Given the description of an element on the screen output the (x, y) to click on. 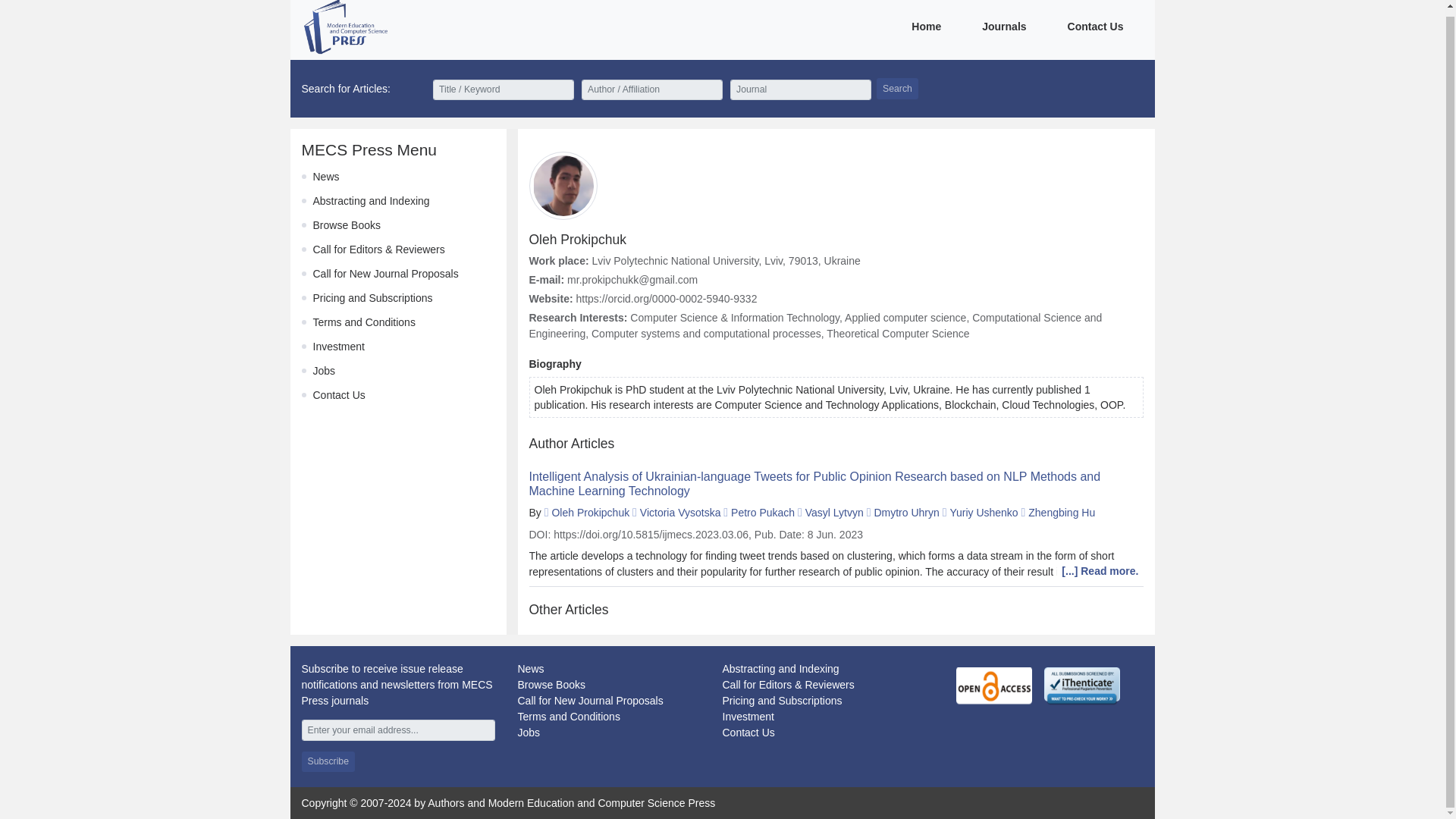
Subscribe (328, 761)
Investment (747, 716)
Search (897, 87)
Pricing and Subscriptions (372, 297)
Call for New Journal Proposals (589, 700)
Zhengbing Hu (1060, 512)
Jobs (528, 732)
Browse Books (550, 684)
Jobs (323, 370)
